Given the description of an element on the screen output the (x, y) to click on. 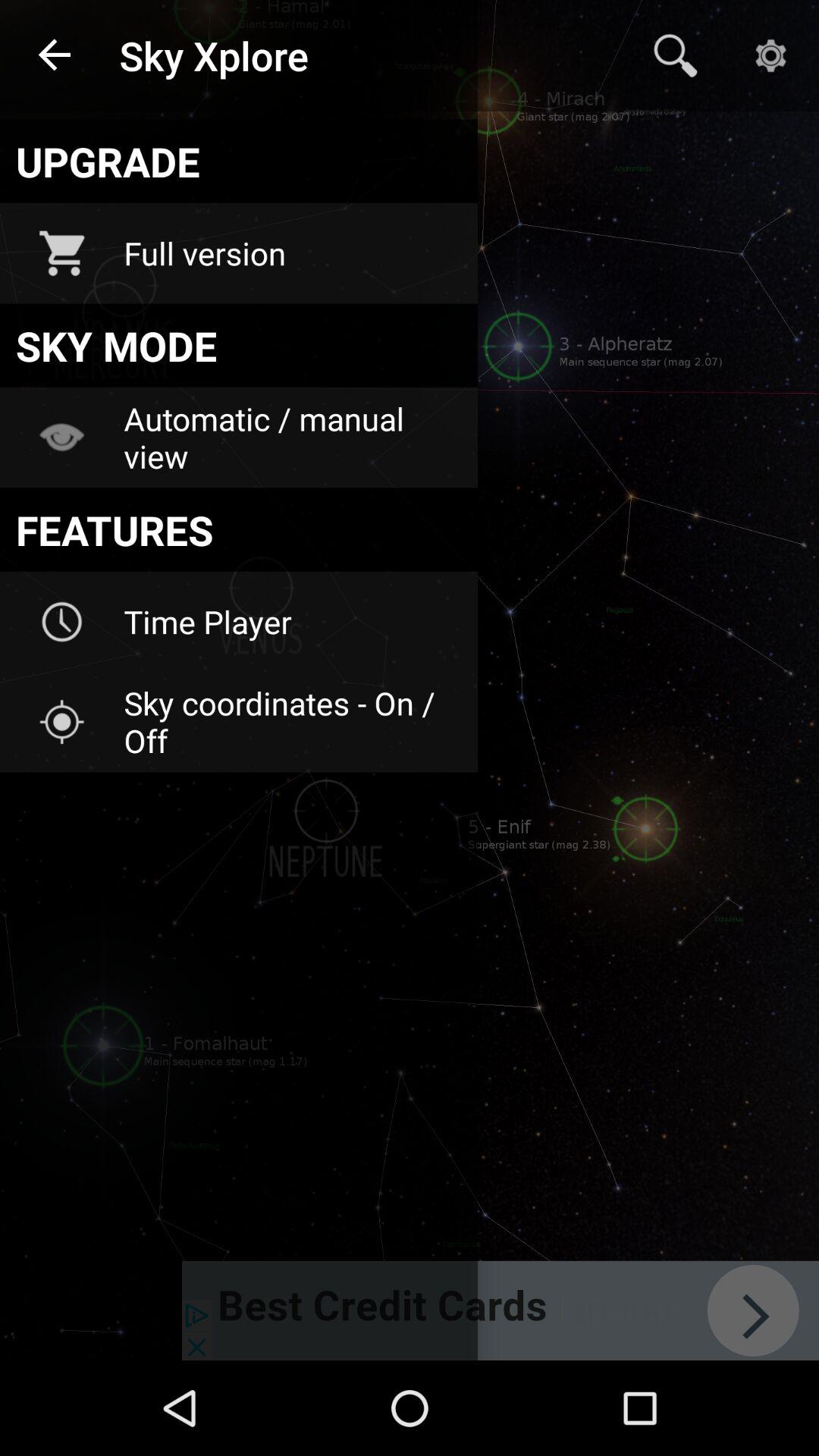
turn off sky coordinates on (290, 721)
